Given the description of an element on the screen output the (x, y) to click on. 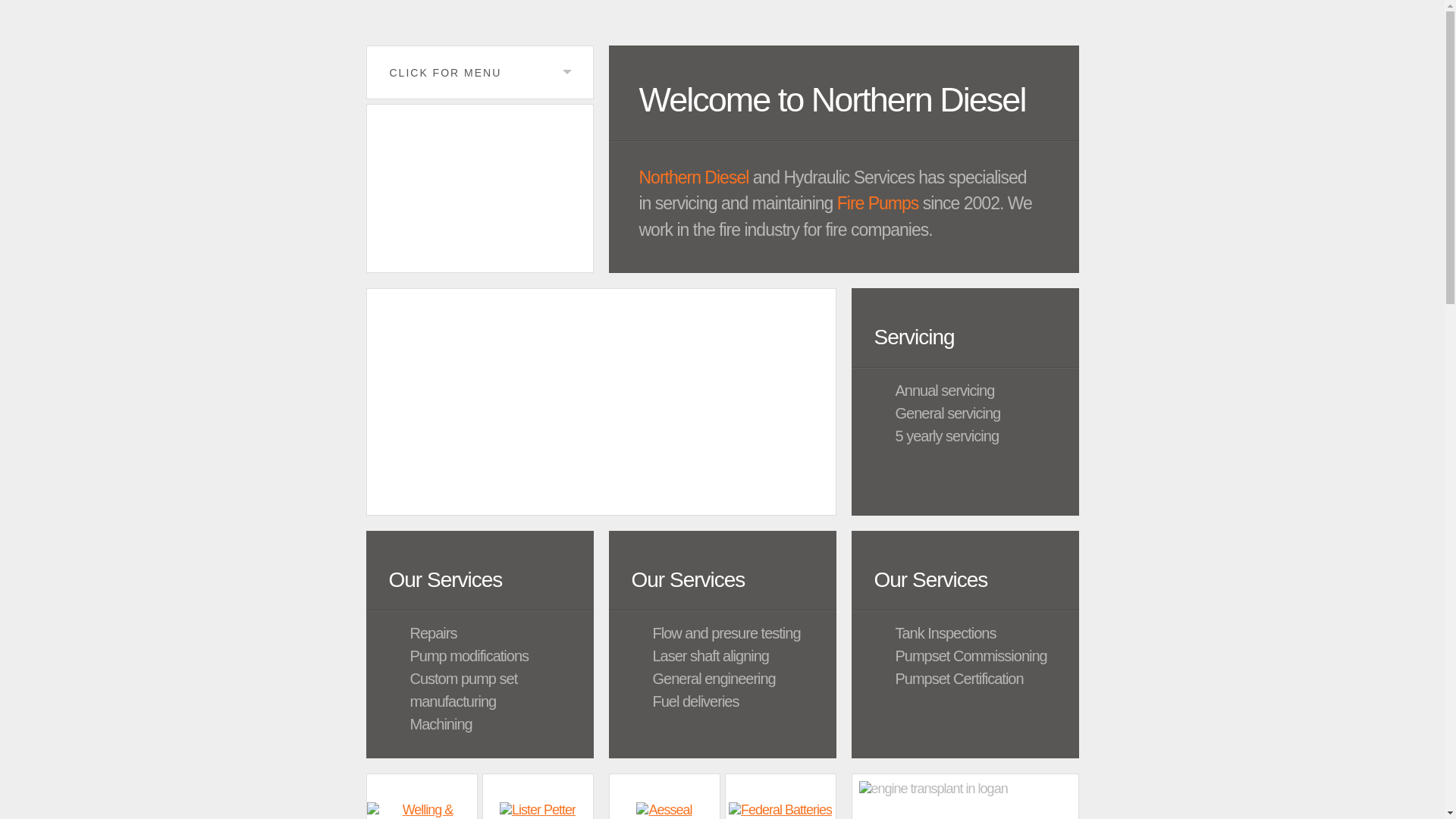
Eagle Logistics Element type: text (479, 188)
